Given the description of an element on the screen output the (x, y) to click on. 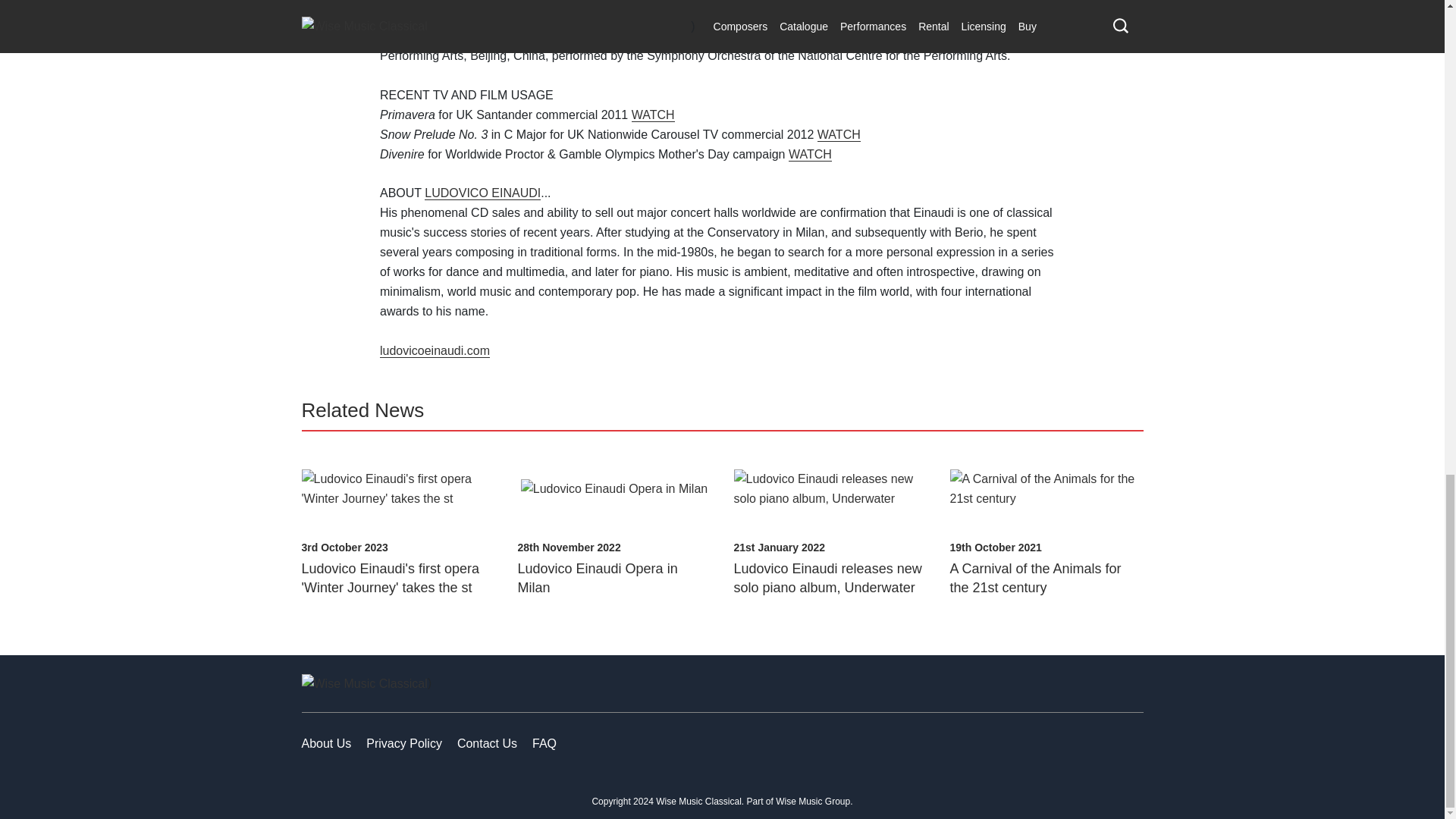
Twitter (1055, 743)
WATCH (838, 134)
Contact Us (486, 743)
FAQ (544, 743)
Instagram (1090, 743)
Ludovico Einaudi's first opera 'Winter Journey' takes the st (390, 578)
Wetlands (404, 16)
Facebook (1020, 743)
YouTube (1125, 743)
A Carnival of the Animals for the 21st century (1035, 578)
Privacy Policy (404, 743)
About Us (326, 743)
WATCH (810, 154)
LUDOVICO EINAUDI (482, 192)
ludovicoeinaudi.com (434, 350)
